Given the description of an element on the screen output the (x, y) to click on. 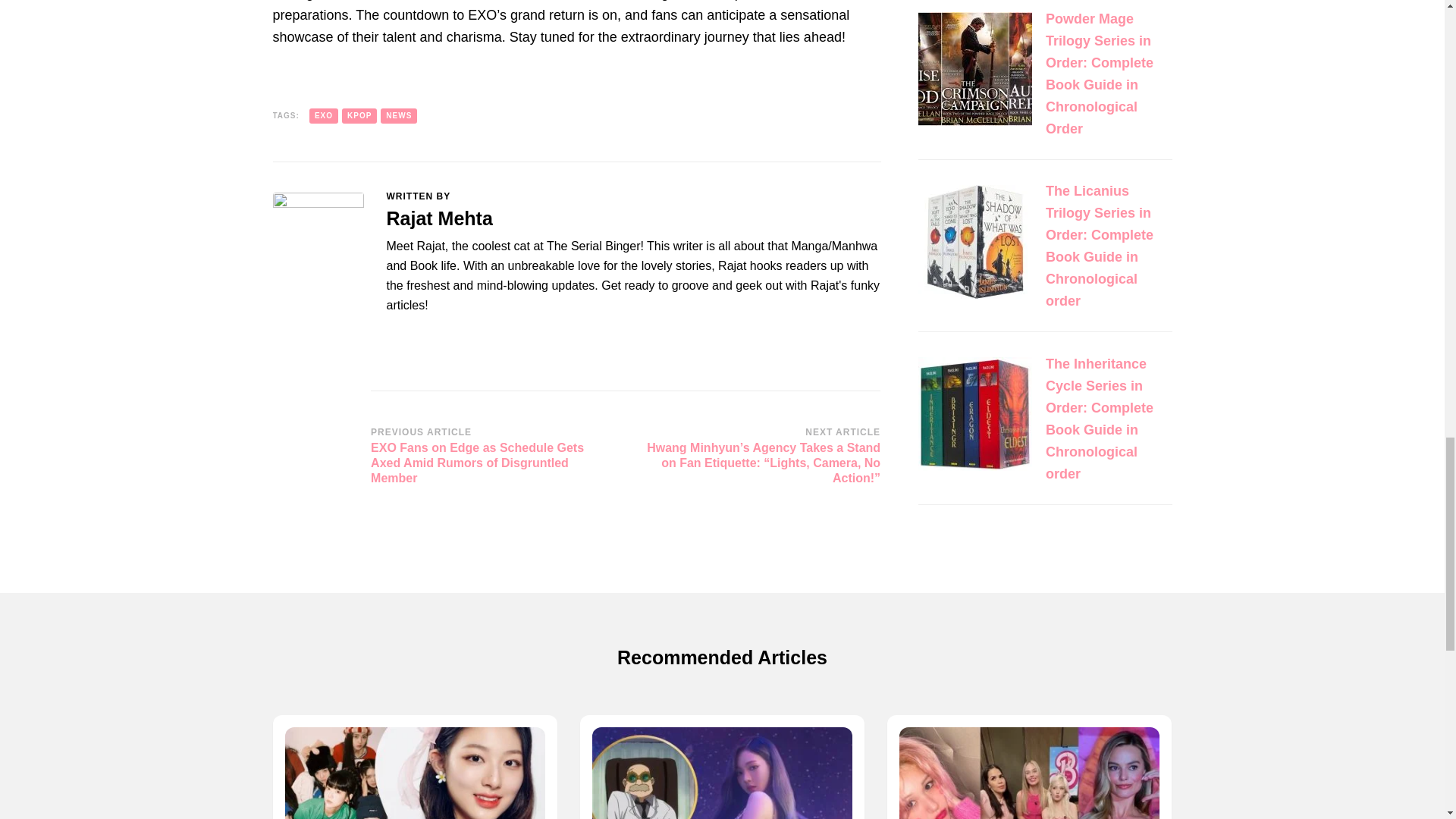
KPOP (359, 115)
NEWS (398, 115)
EXO (322, 115)
